Given the description of an element on the screen output the (x, y) to click on. 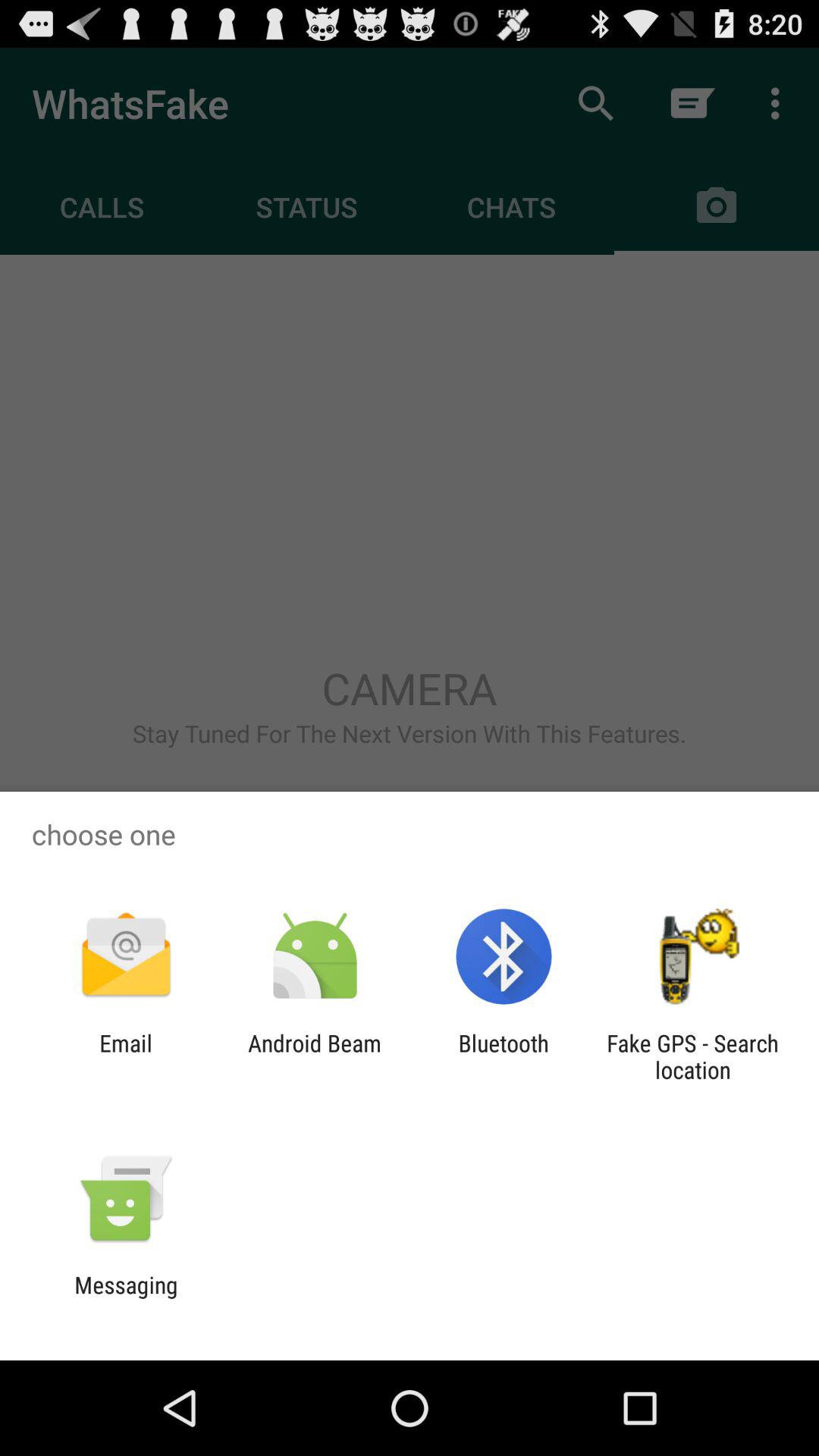
flip until the android beam item (314, 1056)
